Given the description of an element on the screen output the (x, y) to click on. 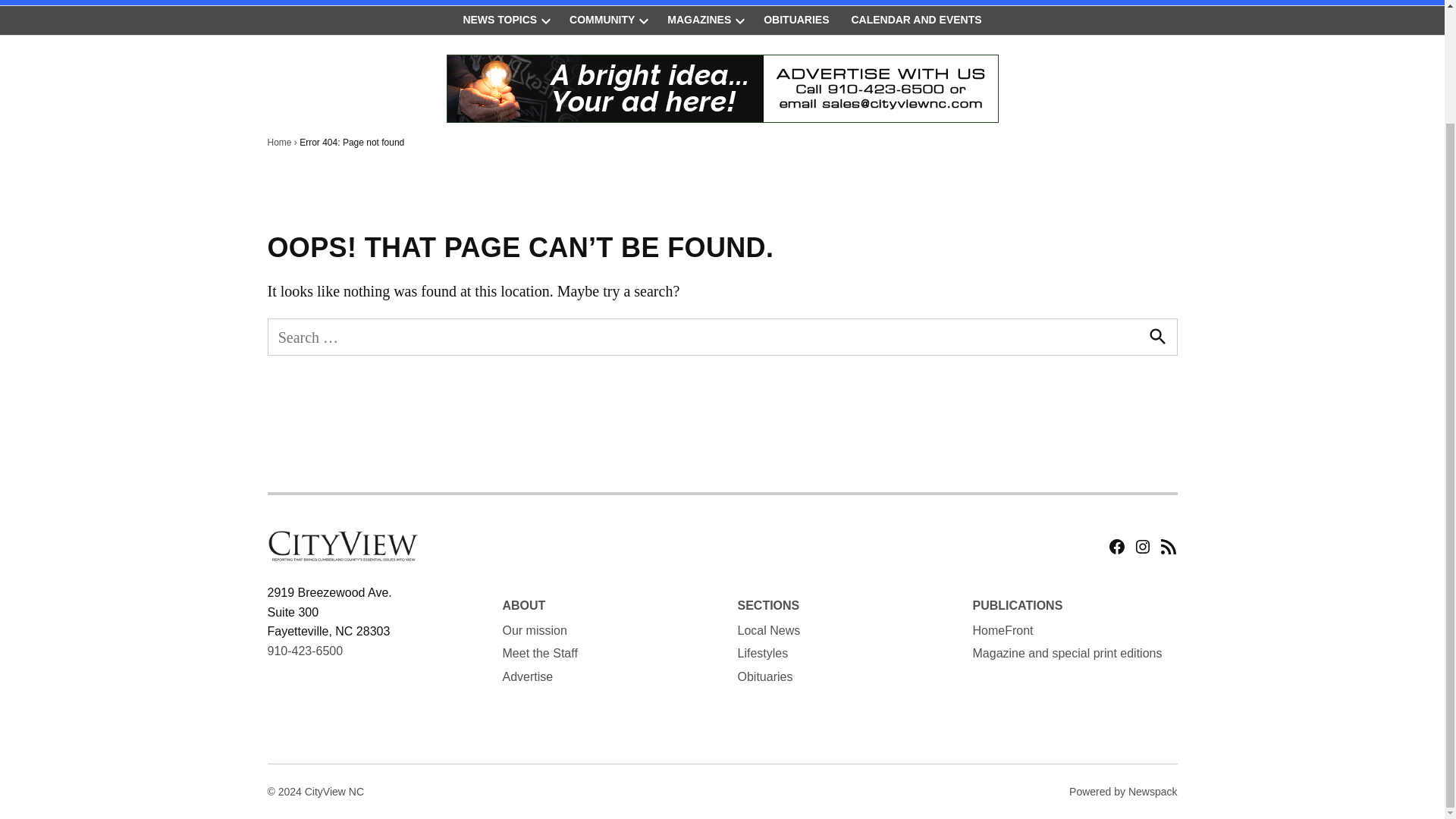
HOUSE ADS - Bright Idea - 728x90 (721, 91)
